Given the description of an element on the screen output the (x, y) to click on. 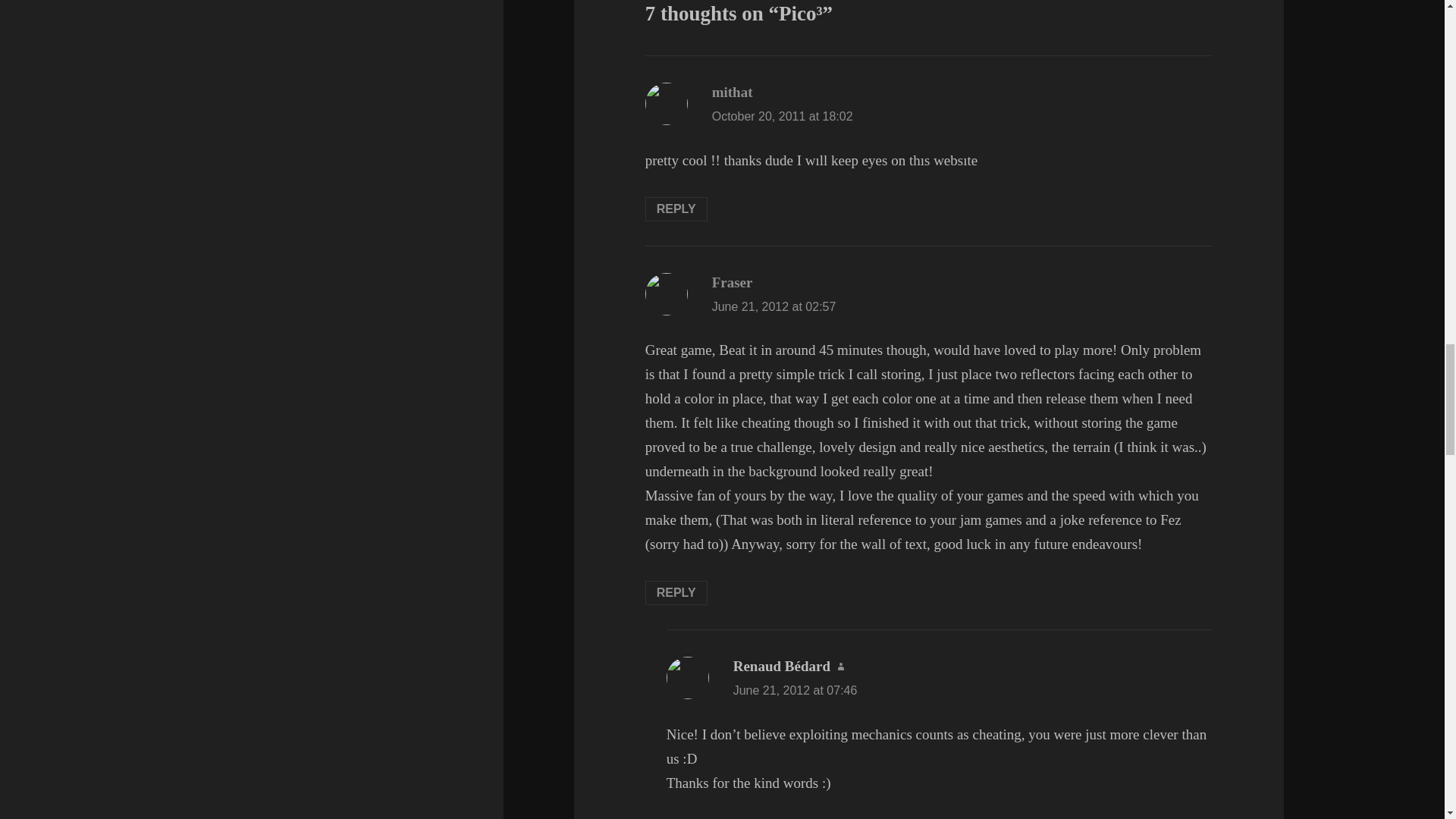
REPLY (676, 209)
June 21, 2012 at 02:57 (773, 306)
June 21, 2012 at 07:46 (795, 689)
October 20, 2011 at 18:02 (782, 115)
REPLY (676, 592)
